Given the description of an element on the screen output the (x, y) to click on. 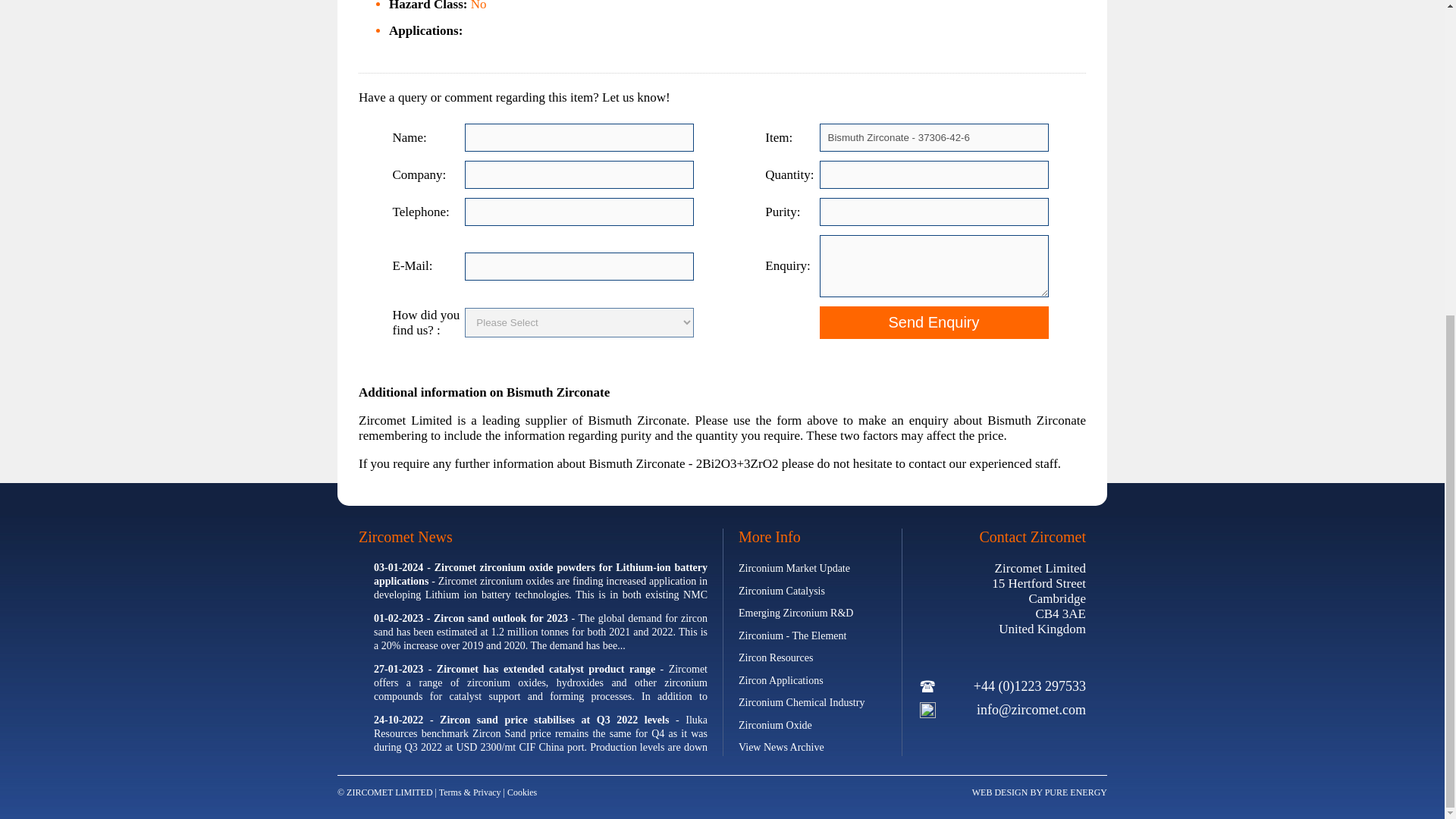
View News Archive (781, 747)
Zirconium Catalysis (781, 590)
Zirconium Oxide (775, 725)
Zirconium - The Element (791, 635)
View News Archive (781, 747)
Zirconium Oxide (775, 725)
Zirconium - The Element (791, 635)
Zircon Applications (781, 679)
Zirconium Market Update (794, 568)
